Given the description of an element on the screen output the (x, y) to click on. 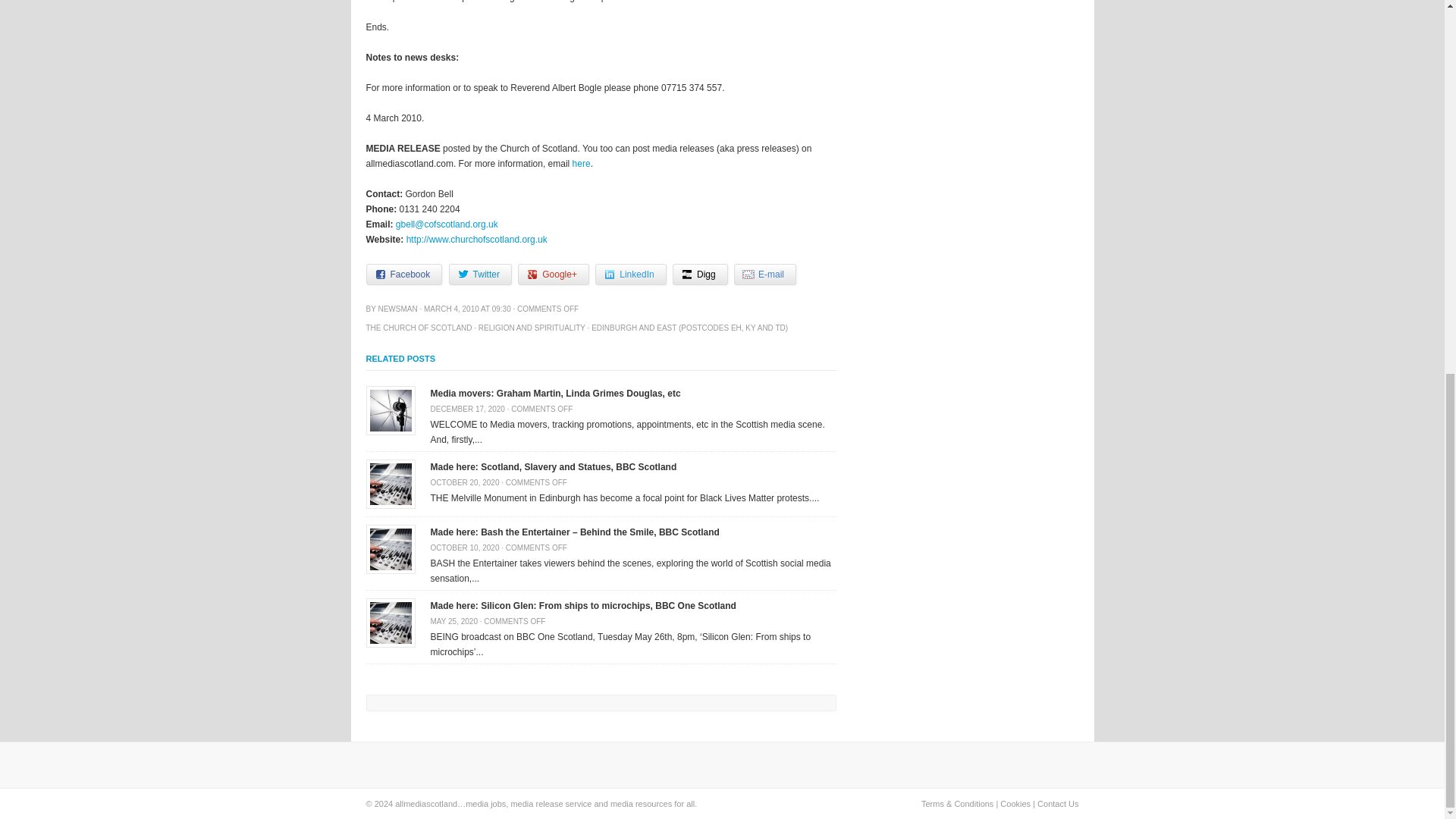
Share this article on Twitter (480, 274)
Share this article on Facebook (403, 274)
Share this article on LinkedIn (630, 274)
Share this article on Digg (700, 274)
